Given the description of an element on the screen output the (x, y) to click on. 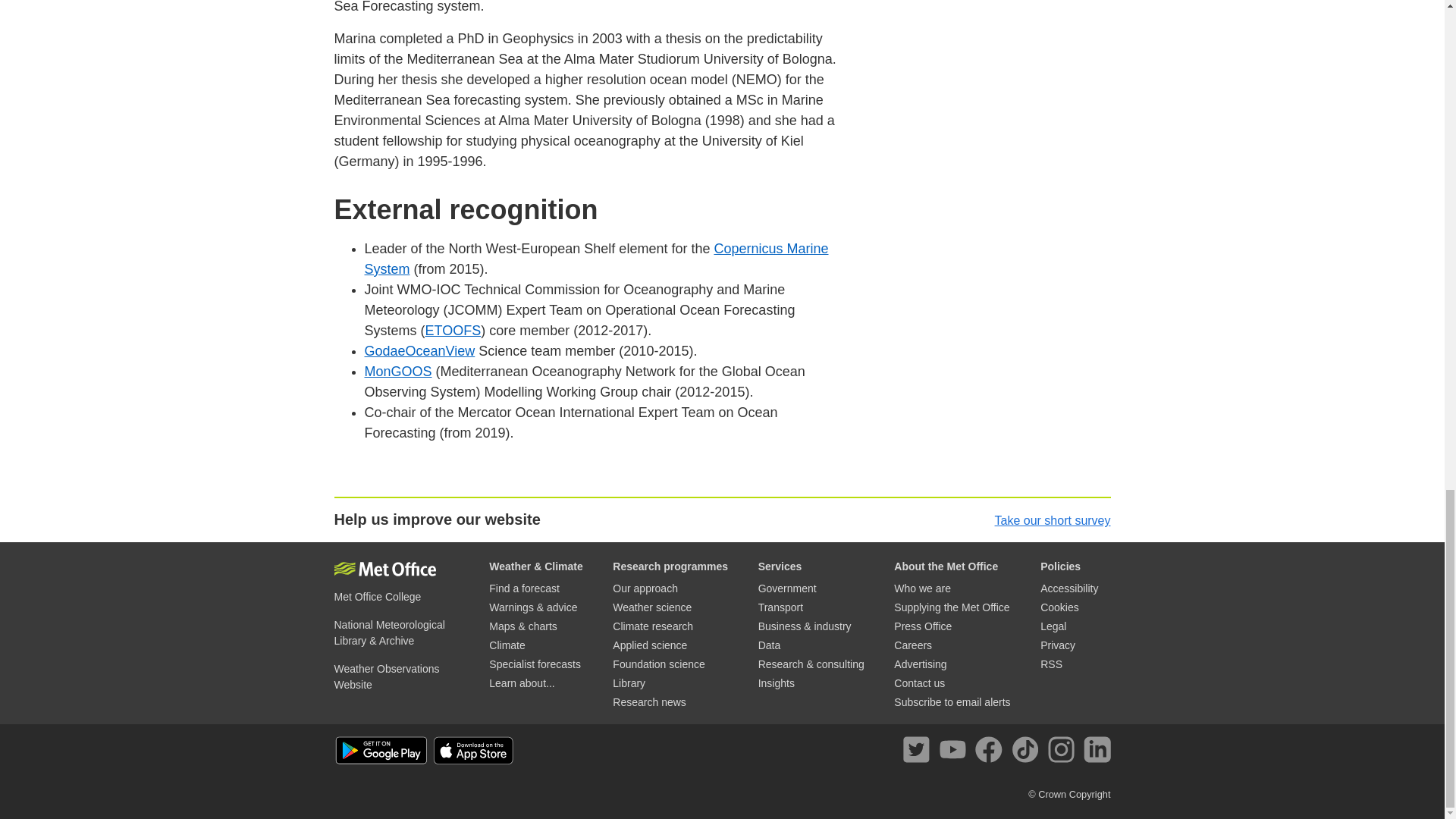
Follow us on Twitter (919, 752)
Follow us on Youtube (955, 752)
Follow us on Instagram (1064, 752)
Follow us on Facebook (991, 752)
Follow us on TikTok (1027, 752)
